Given the description of an element on the screen output the (x, y) to click on. 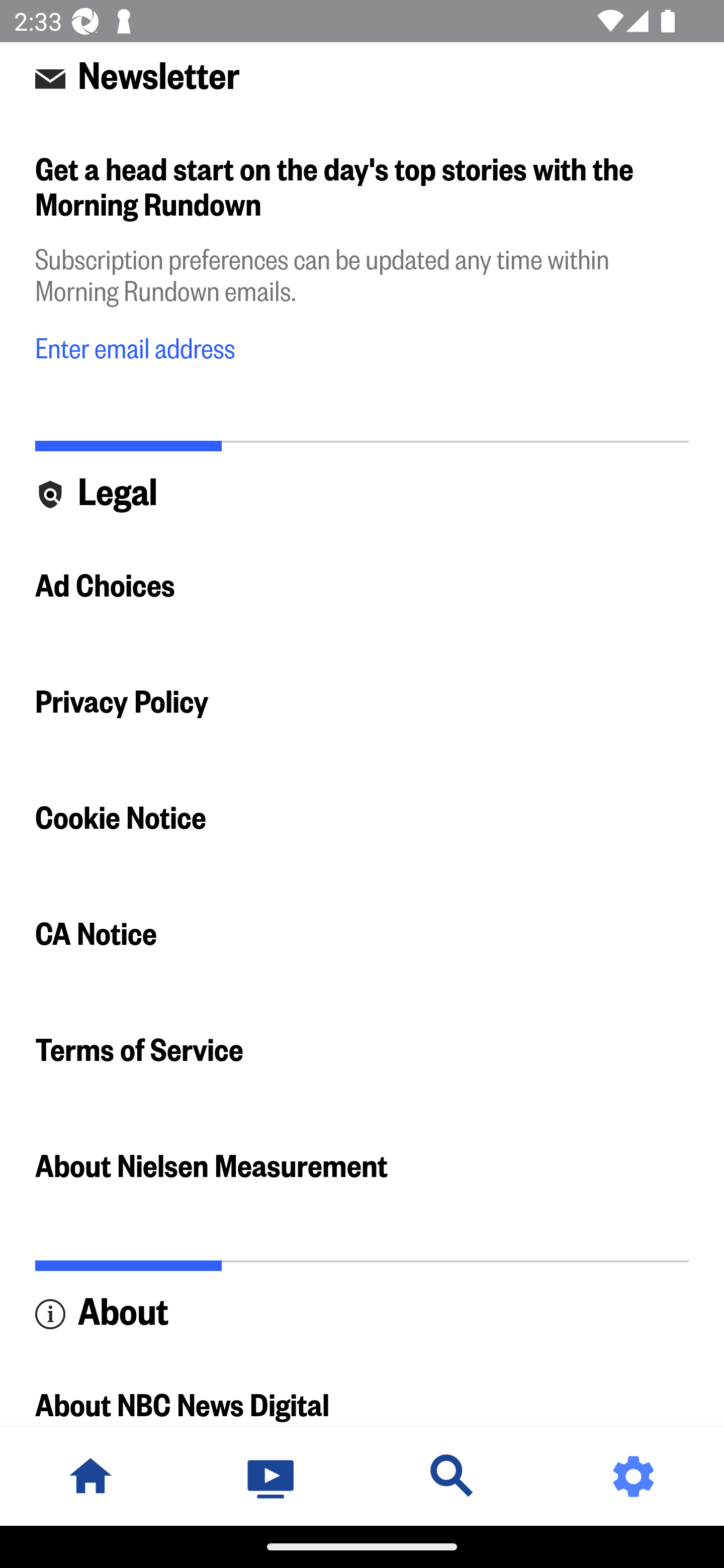
Ad Choices (362, 586)
Privacy Policy (362, 702)
Cookie Notice (362, 818)
CA Notice (362, 934)
Terms of Service (362, 1050)
About Nielsen Measurement (362, 1166)
About NBC News Digital (362, 1387)
NBC News Home (90, 1475)
Watch (271, 1475)
Discover (452, 1475)
